Given the description of an element on the screen output the (x, y) to click on. 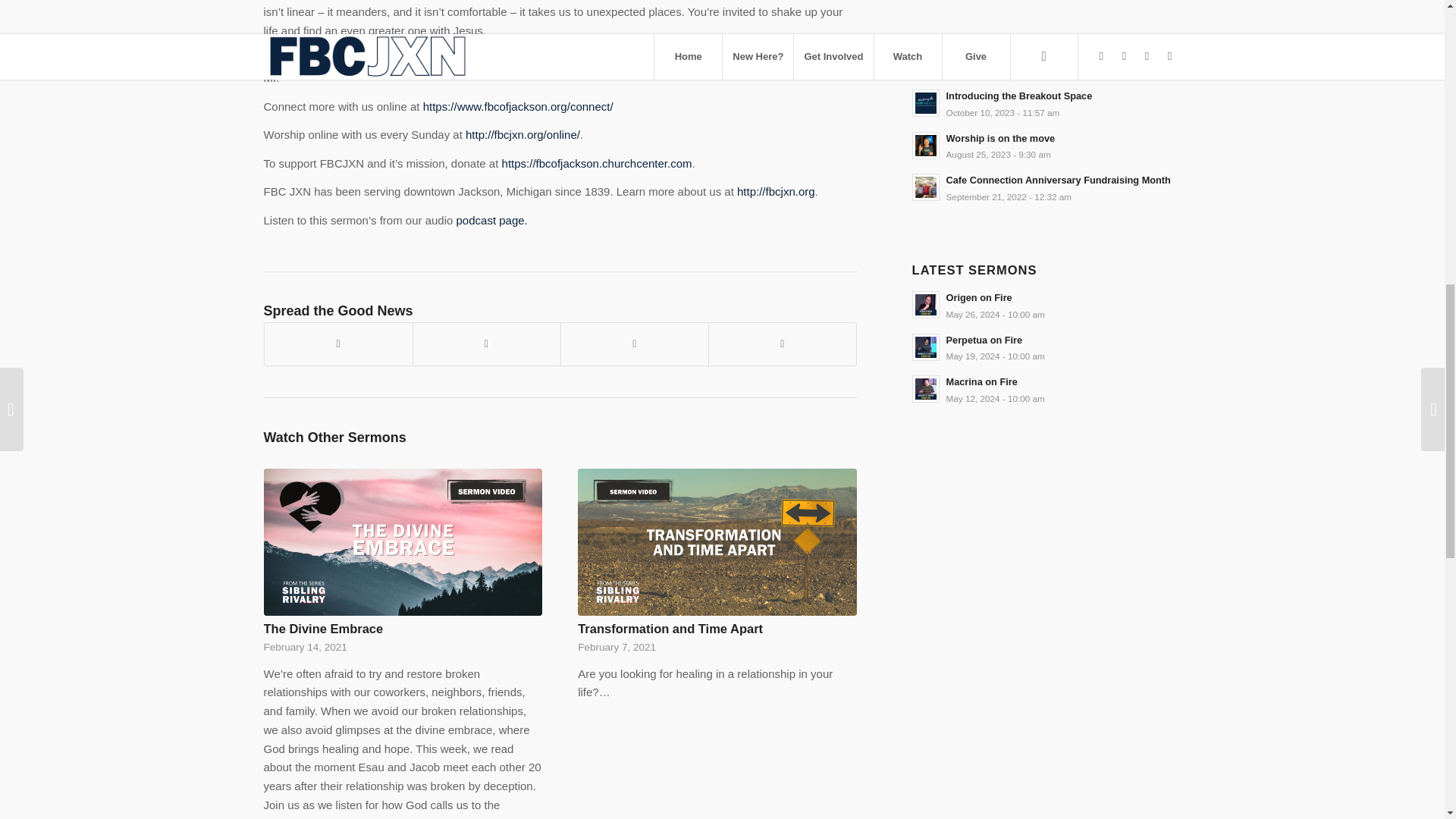
Transformation and Time Apart (717, 541)
The Divine Embrace (323, 628)
Transformation and Time Apart (670, 628)
The Divine Embrace (323, 628)
podcast page. (492, 219)
The Divine Embrace (403, 541)
